Given the description of an element on the screen output the (x, y) to click on. 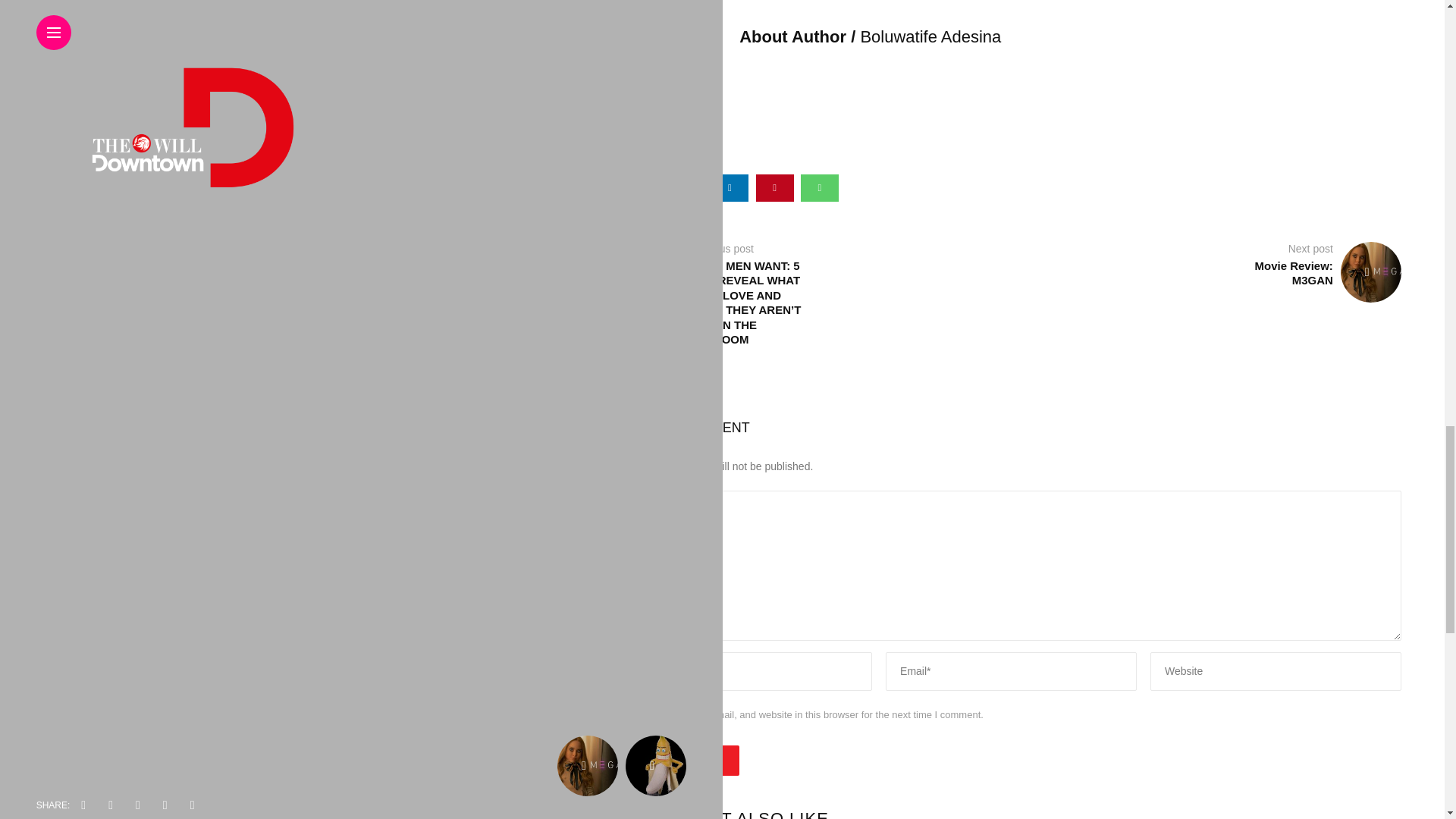
facebook (640, 187)
yes (627, 714)
Post Comment (680, 760)
